Given the description of an element on the screen output the (x, y) to click on. 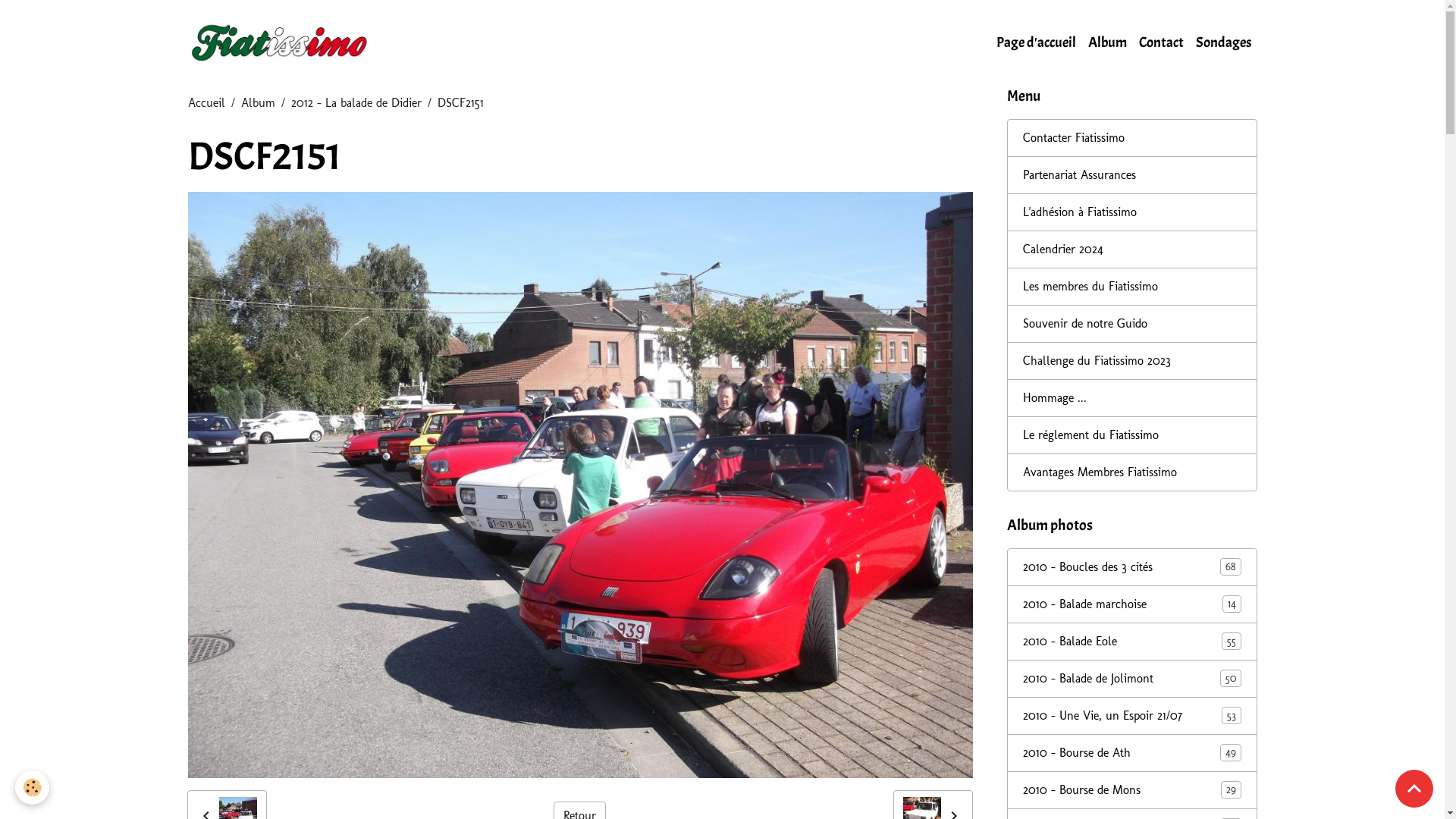
Hommage ... Element type: text (1132, 398)
Calendrier 2024 Element type: text (1132, 249)
2010 - Bourse de Mons
29 Element type: text (1132, 790)
2010 - Bourse de Ath
49 Element type: text (1132, 752)
Partenariat Assurances Element type: text (1132, 175)
Album Element type: text (1106, 42)
2010 - Balade Eole
55 Element type: text (1132, 641)
Contact Element type: text (1160, 42)
Avantages Membres Fiatissimo Element type: text (1132, 472)
Contacter Fiatissimo Element type: text (1132, 137)
2010 - Balade marchoise
14 Element type: text (1132, 604)
Challenge du Fiatissimo 2023 Element type: text (1132, 360)
Accueil Element type: text (206, 102)
2012 - La balade de Didier Element type: text (356, 102)
Page d'accueil Element type: text (1036, 42)
Sondages Element type: text (1222, 42)
2010 - Balade de Jolimont
50 Element type: text (1132, 678)
2010 - Une Vie, un Espoir 21/07
53 Element type: text (1132, 715)
Album Element type: text (258, 102)
Souvenir de notre Guido Element type: text (1132, 323)
Les membres du Fiatissimo Element type: text (1132, 286)
